Given the description of an element on the screen output the (x, y) to click on. 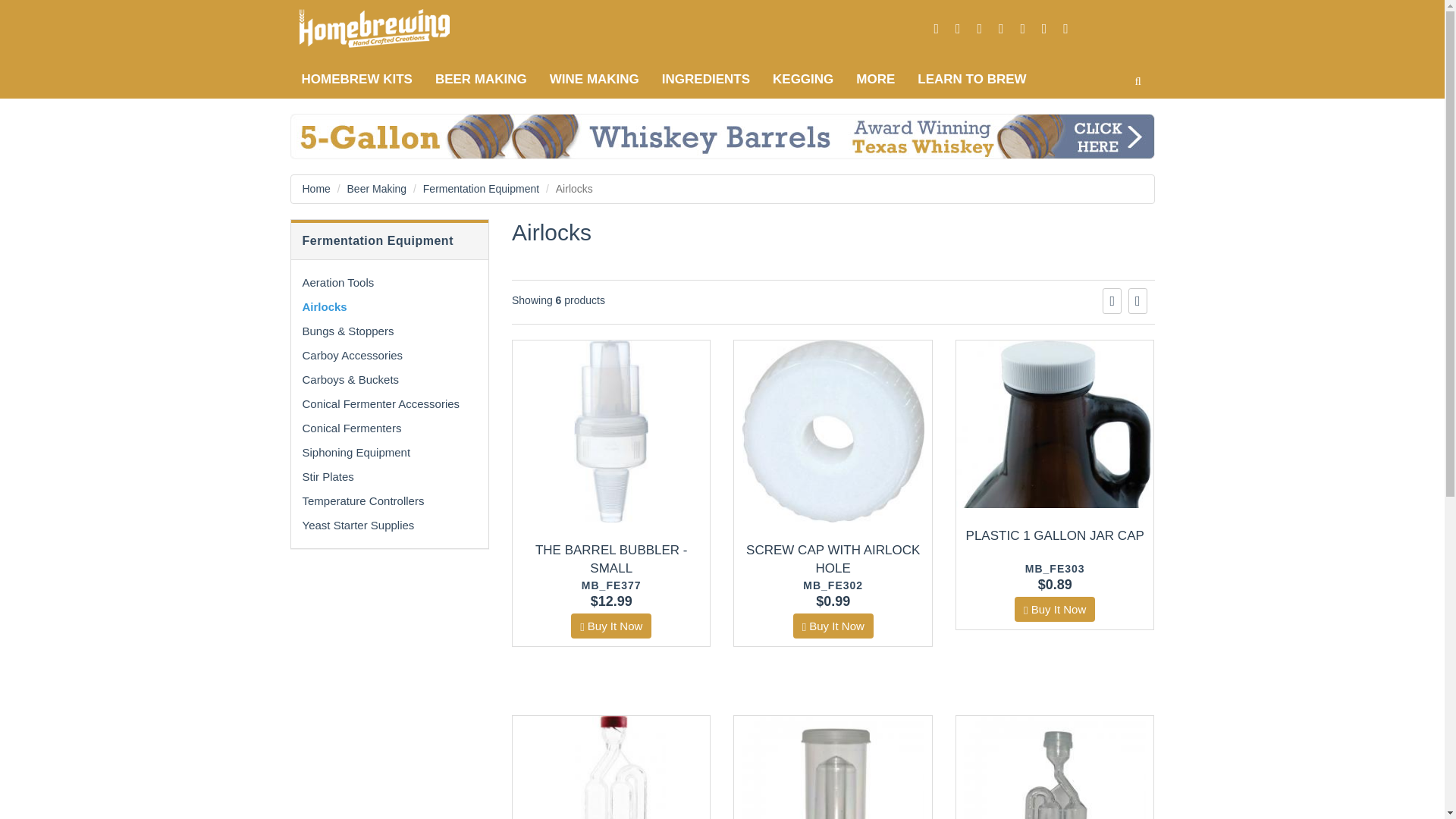
BEER MAKING (480, 79)
Homebrewing (396, 28)
HOMEBREW KITS (356, 79)
